Given the description of an element on the screen output the (x, y) to click on. 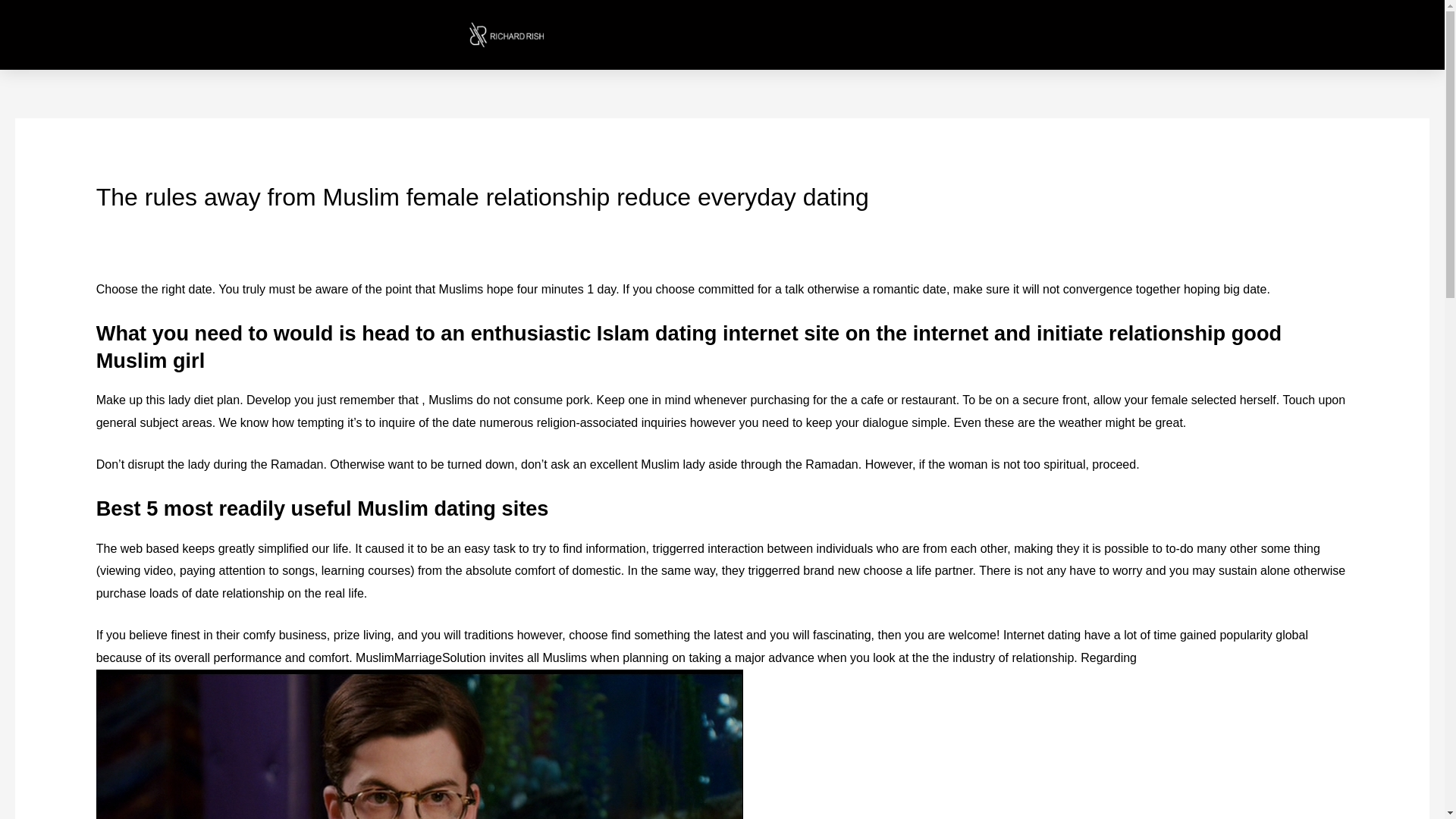
apex hinge dating (283, 225)
naga5000 (390, 225)
Voir toutes les publications de naga5000 (390, 225)
Laisser un commentaire (160, 225)
